Given the description of an element on the screen output the (x, y) to click on. 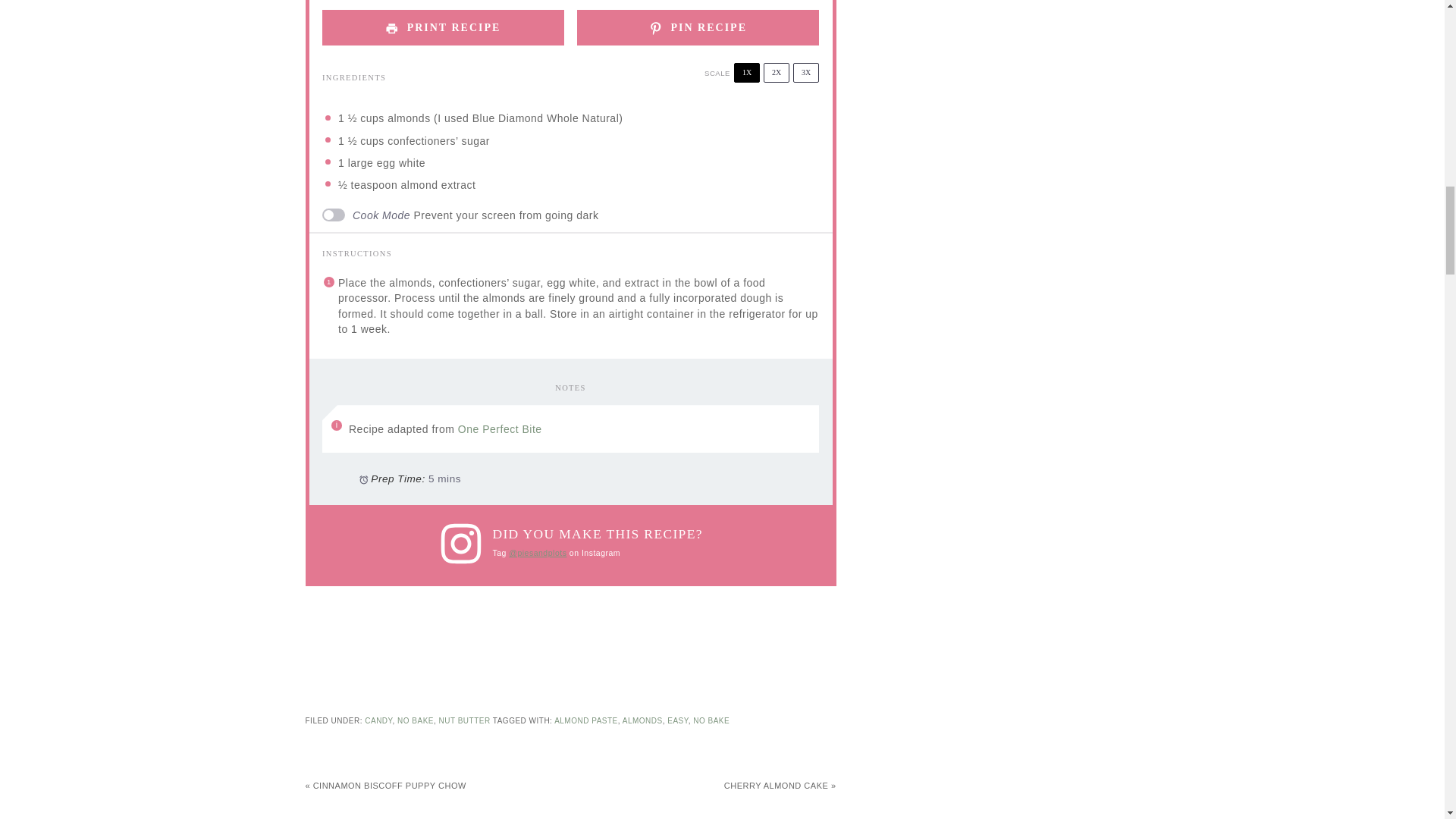
NO BAKE (415, 720)
ALMOND PASTE (585, 720)
1X (746, 72)
ALMONDS (642, 720)
3X (805, 72)
PIN RECIPE (697, 27)
NO BAKE (711, 720)
CANDY (378, 720)
2X (775, 72)
One Perfect Bite (499, 428)
